Given the description of an element on the screen output the (x, y) to click on. 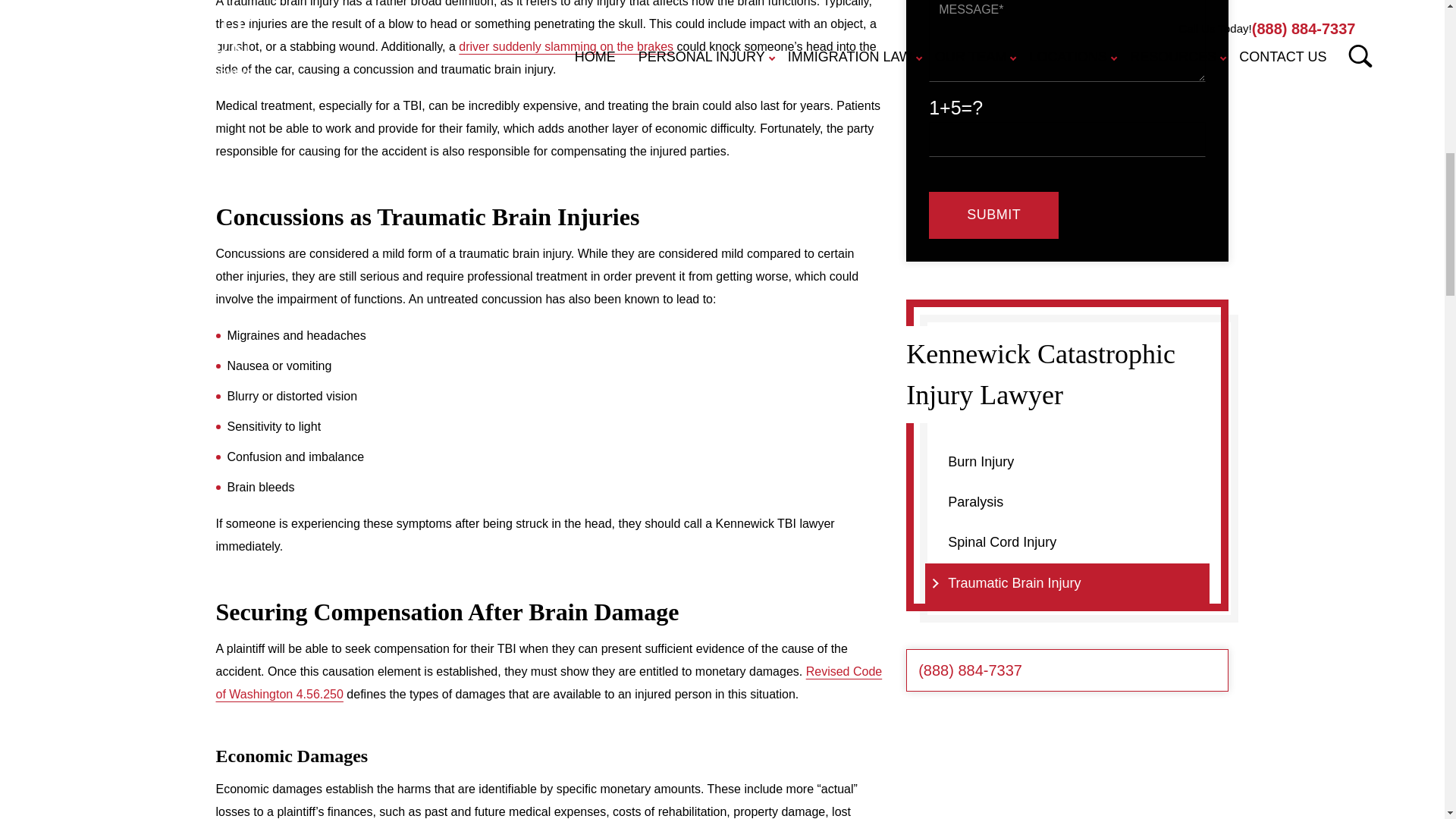
Submit (993, 215)
